Given the description of an element on the screen output the (x, y) to click on. 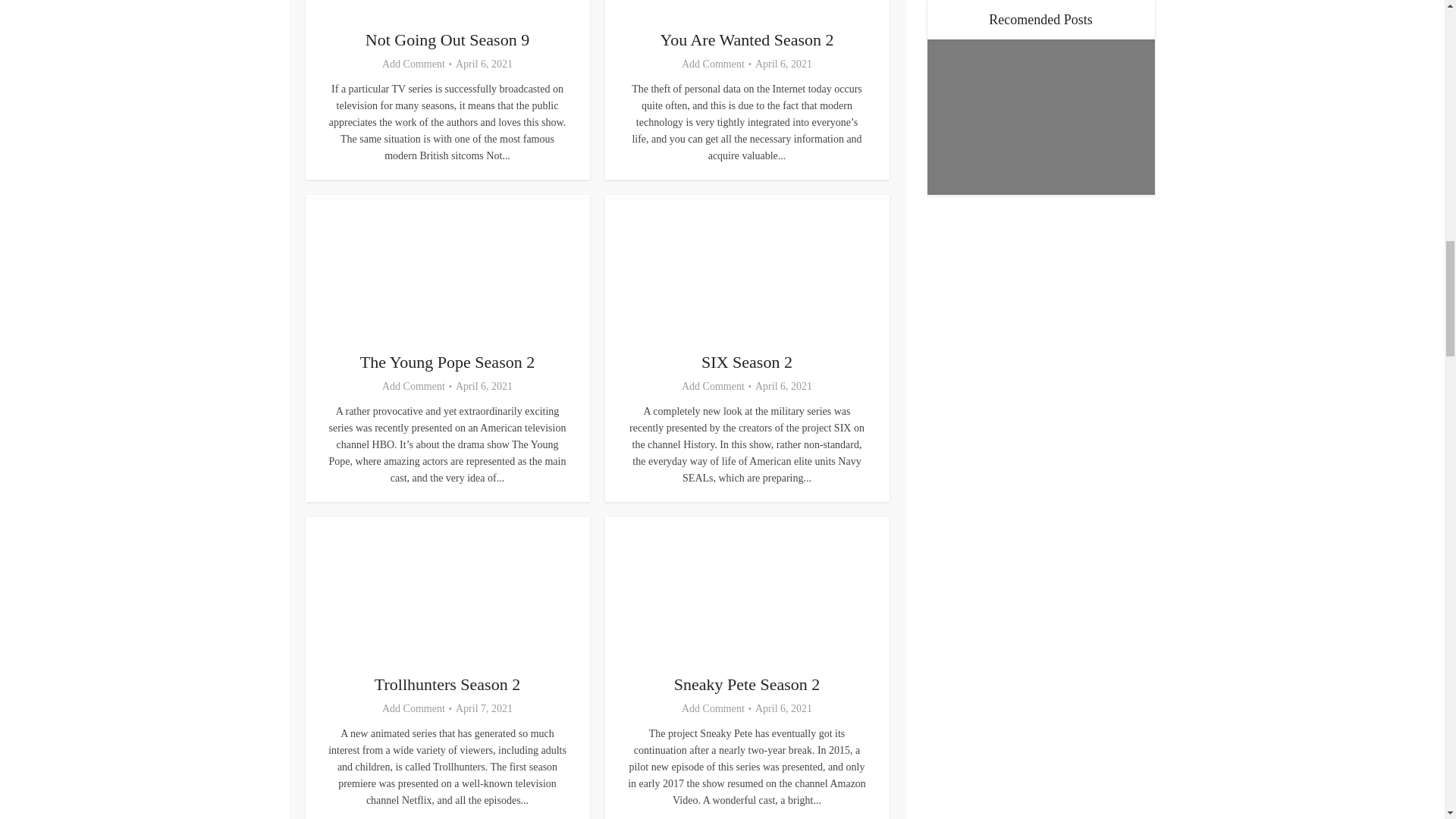
The Young Pope Season 2 (446, 361)
You Are Wanted Season 2 (745, 39)
Add Comment (413, 386)
Add Comment (712, 64)
Trollhunters Season 2 (446, 683)
Not Going Out Season 9 (447, 39)
You Are Wanted Season 2 (745, 39)
The Young Pope Season 2 (446, 361)
Sneaky Pete Season 2 (746, 683)
SIX Season 2 (746, 361)
Add Comment (413, 708)
Add Comment (712, 708)
Add Comment (413, 64)
Sneaky Pete Season 2 (746, 683)
Not Going Out Season 9 (447, 39)
